Given the description of an element on the screen output the (x, y) to click on. 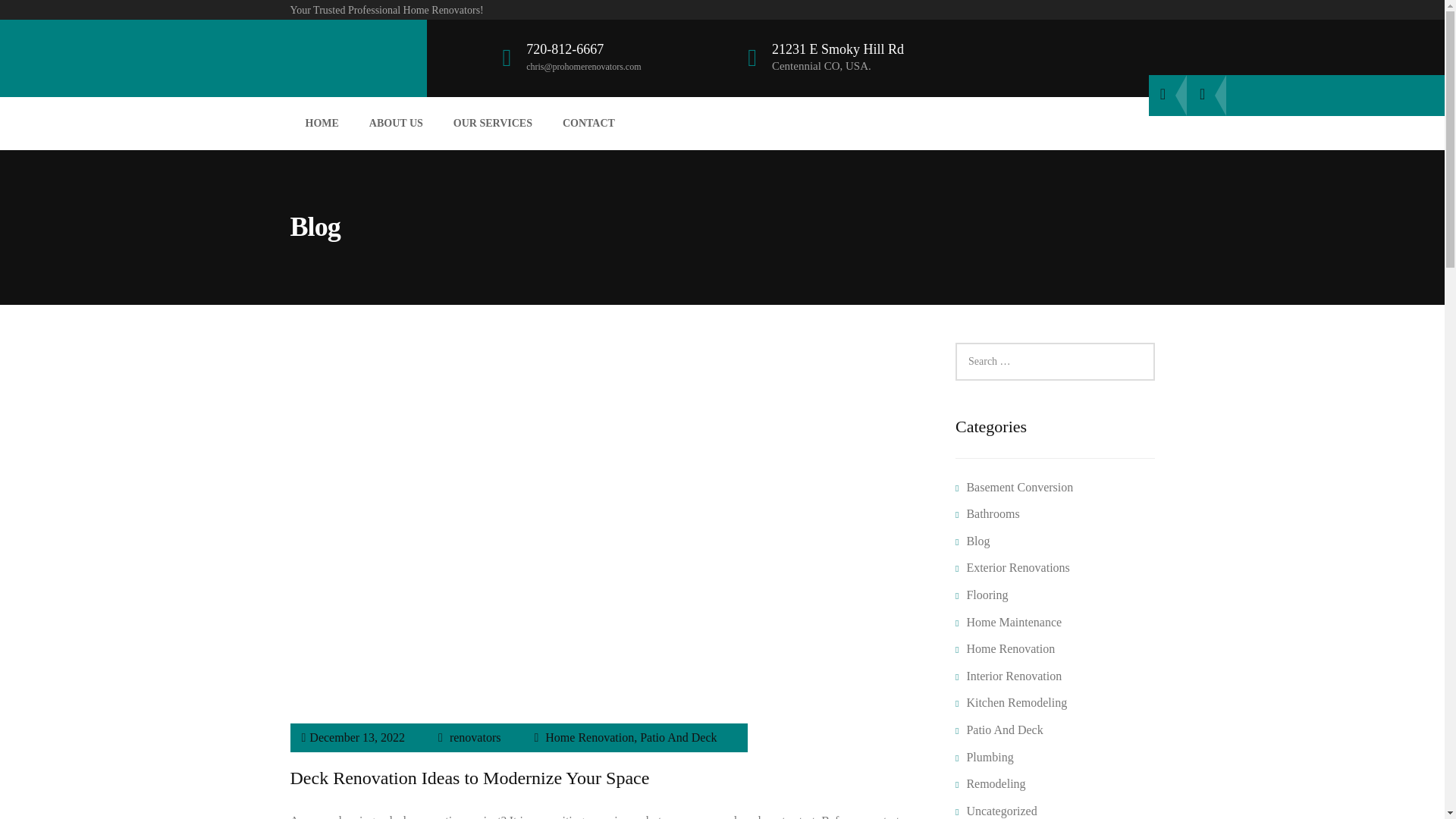
Deck Renovation Ideas to Modernize Your Space (469, 777)
720-812-6667 (564, 48)
CONTACT (588, 122)
Your Trusted Professional Home Renovators! (386, 9)
December 13, 2022 (356, 737)
ABOUT US (395, 122)
HOME (321, 122)
Patio And Deck (678, 737)
Home Renovation (588, 737)
OUR SERVICES (492, 122)
